Given the description of an element on the screen output the (x, y) to click on. 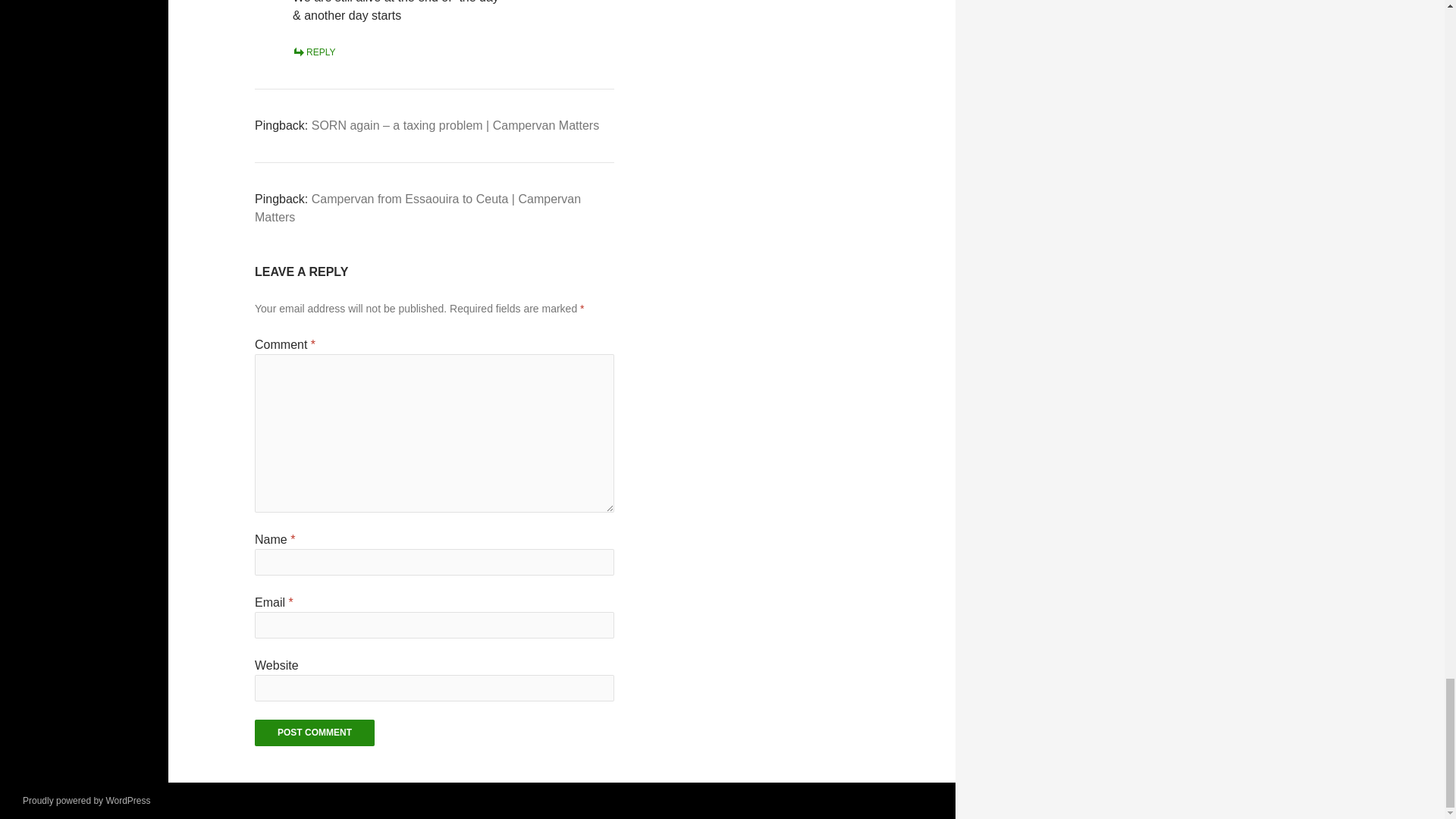
REPLY (313, 51)
Post Comment (314, 732)
Post Comment (314, 732)
